Given the description of an element on the screen output the (x, y) to click on. 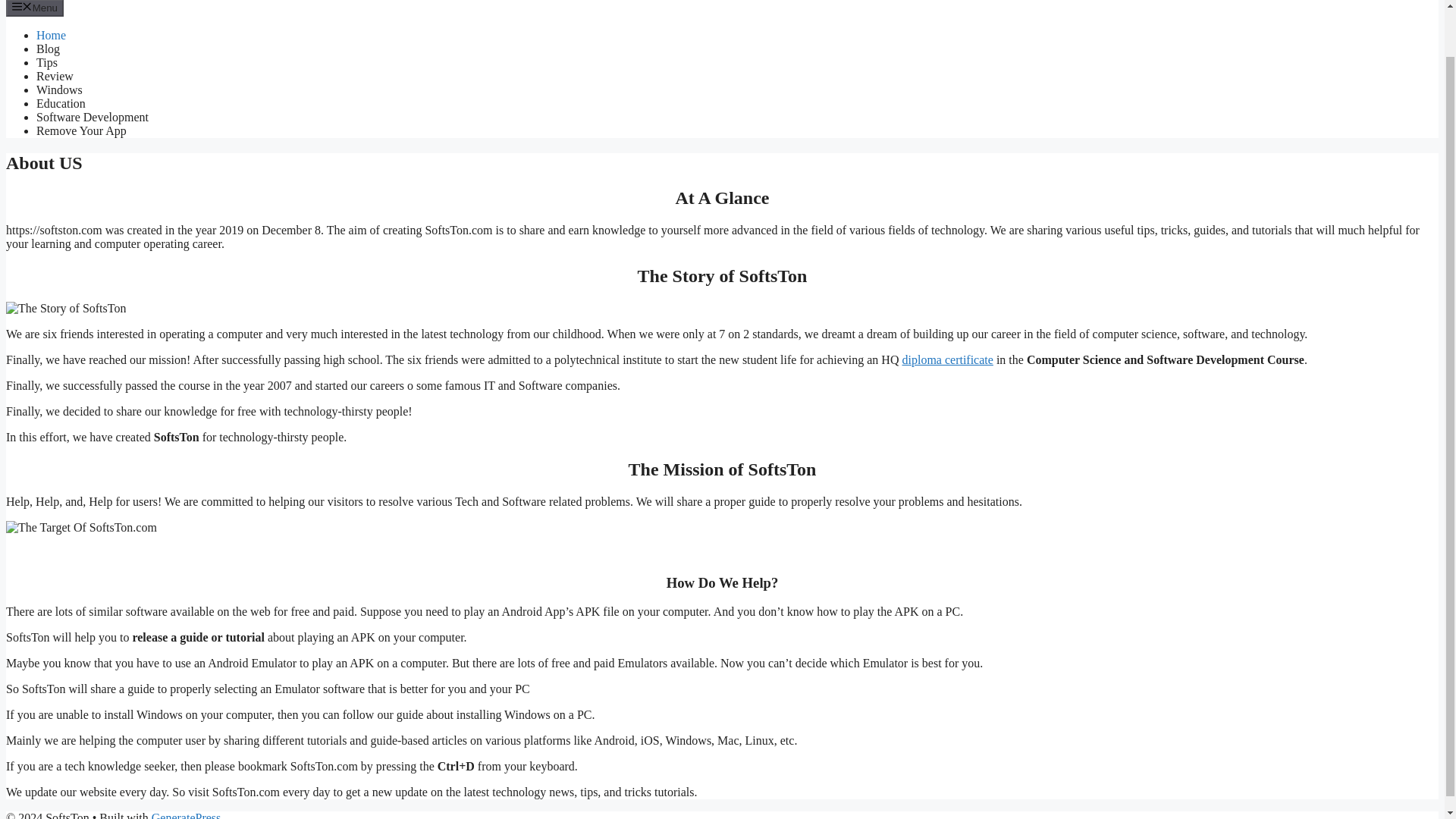
Remove Your App (81, 130)
Tips (47, 62)
Windows (59, 89)
Menu (34, 7)
Review (55, 75)
diploma certificate (946, 359)
Education (60, 103)
Home (50, 34)
Software Development (92, 116)
Blog (47, 48)
